Given the description of an element on the screen output the (x, y) to click on. 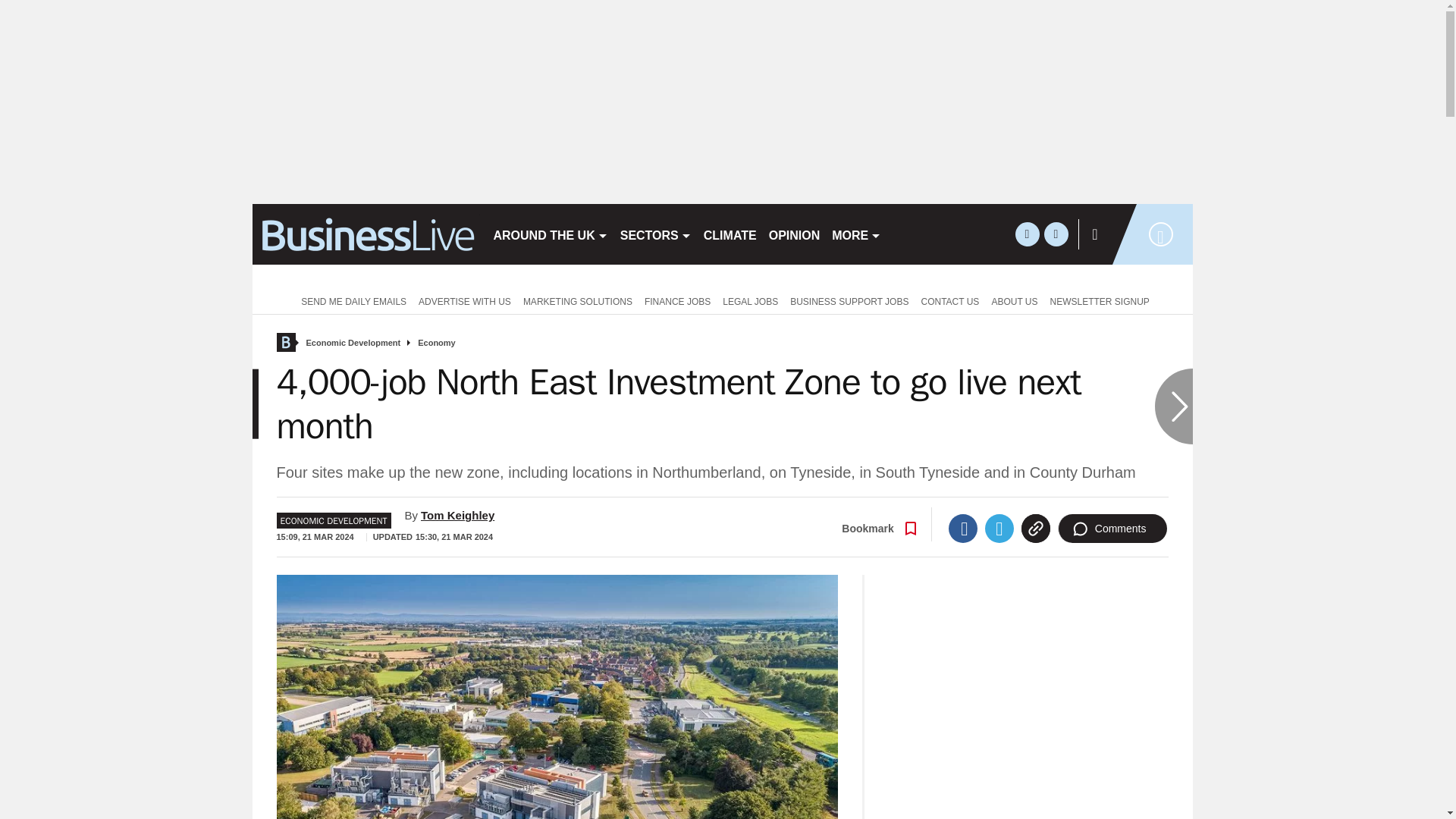
OPINION (794, 233)
Twitter (999, 528)
FINANCE JOBS (677, 300)
MARKETING SOLUTIONS (577, 300)
ADVERTISE WITH US (464, 300)
linkedin (1055, 233)
CLIMATE (729, 233)
SEND ME DAILY EMAILS (350, 300)
twitter (1026, 233)
Comments (1112, 528)
